Given the description of an element on the screen output the (x, y) to click on. 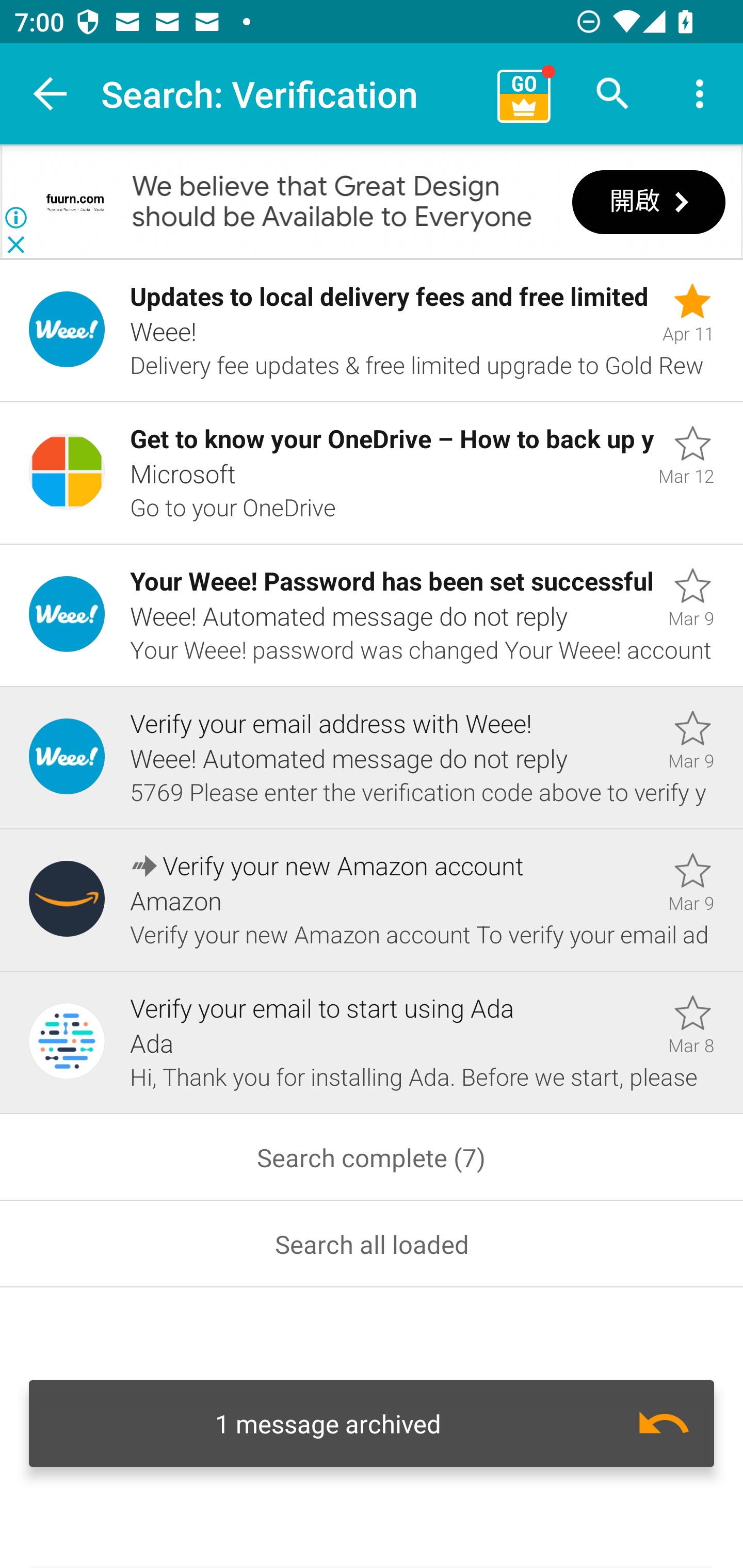
Navigate up (50, 93)
Search (612, 93)
More options (699, 93)
FUURN Furniture (74, 201)
開啟 (648, 202)
Search complete (7) (371, 1157)
Search all loaded (371, 1244)
Undo 1 message archived (371, 1423)
